Given the description of an element on the screen output the (x, y) to click on. 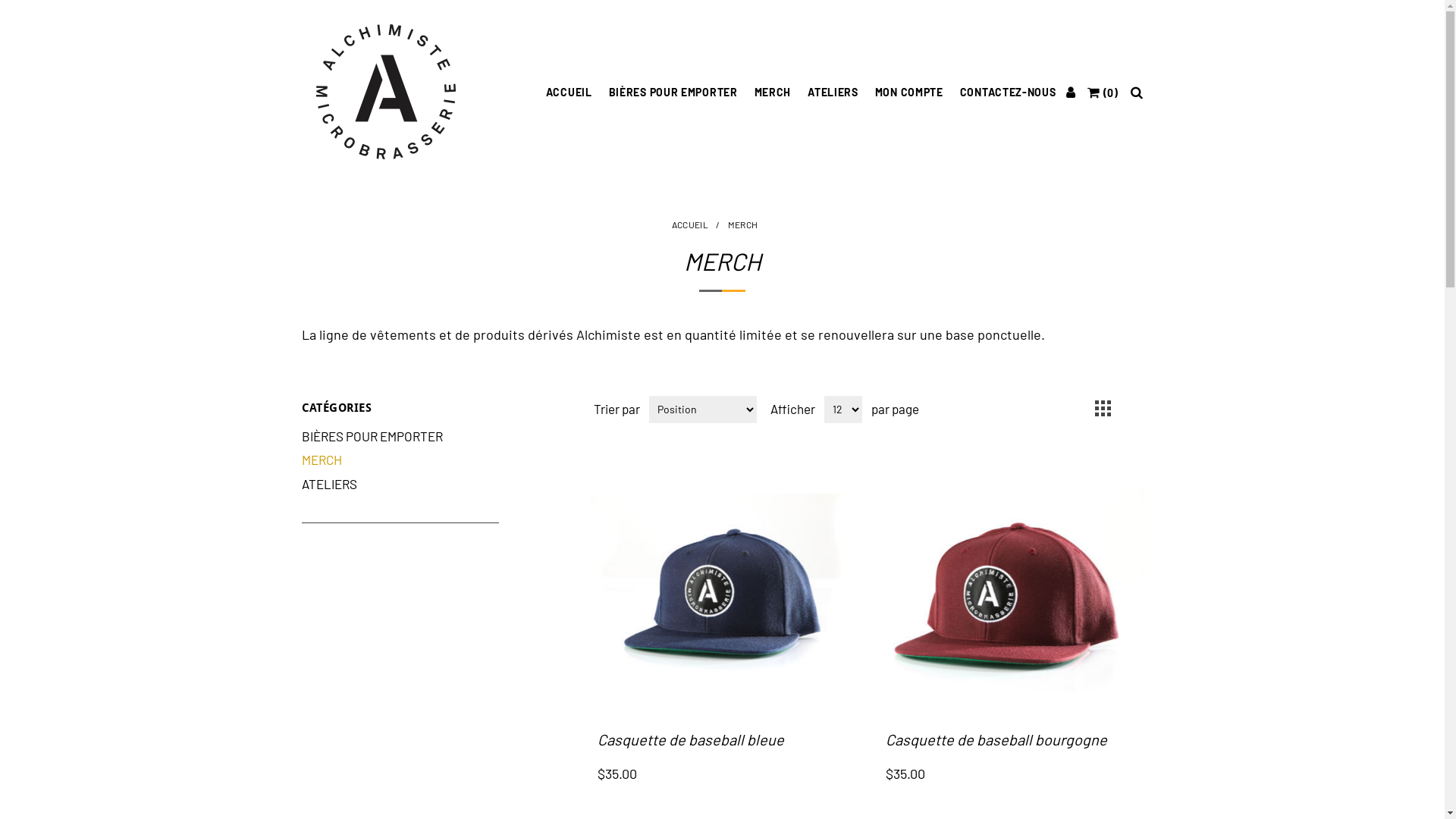
Casquette de baseball bleue Element type: text (722, 739)
Agrandir l'image de Casquette de baseball bleue Element type: hover (722, 589)
Agrandir l'image de Casquette de baseball bourgogne Element type: hover (1010, 589)
CONTACTEZ-NOUS Element type: text (1008, 92)
Agrandir l'image de Casquette de baseball bourgogne Element type: hover (1010, 589)
MON COMPTE Element type: text (909, 92)
Liste Element type: text (1129, 407)
MERCH Element type: text (321, 460)
Grille Element type: text (1102, 407)
(0) Element type: text (1102, 92)
MERCH Element type: text (772, 92)
ATELIERS Element type: text (329, 484)
ACCUEIL Element type: text (690, 224)
ATELIERS Element type: text (832, 92)
ACCUEIL Element type: text (569, 92)
Casquette de baseball bourgogne Element type: text (1010, 739)
Agrandir l'image de Casquette de baseball bleue Element type: hover (722, 589)
